Given the description of an element on the screen output the (x, y) to click on. 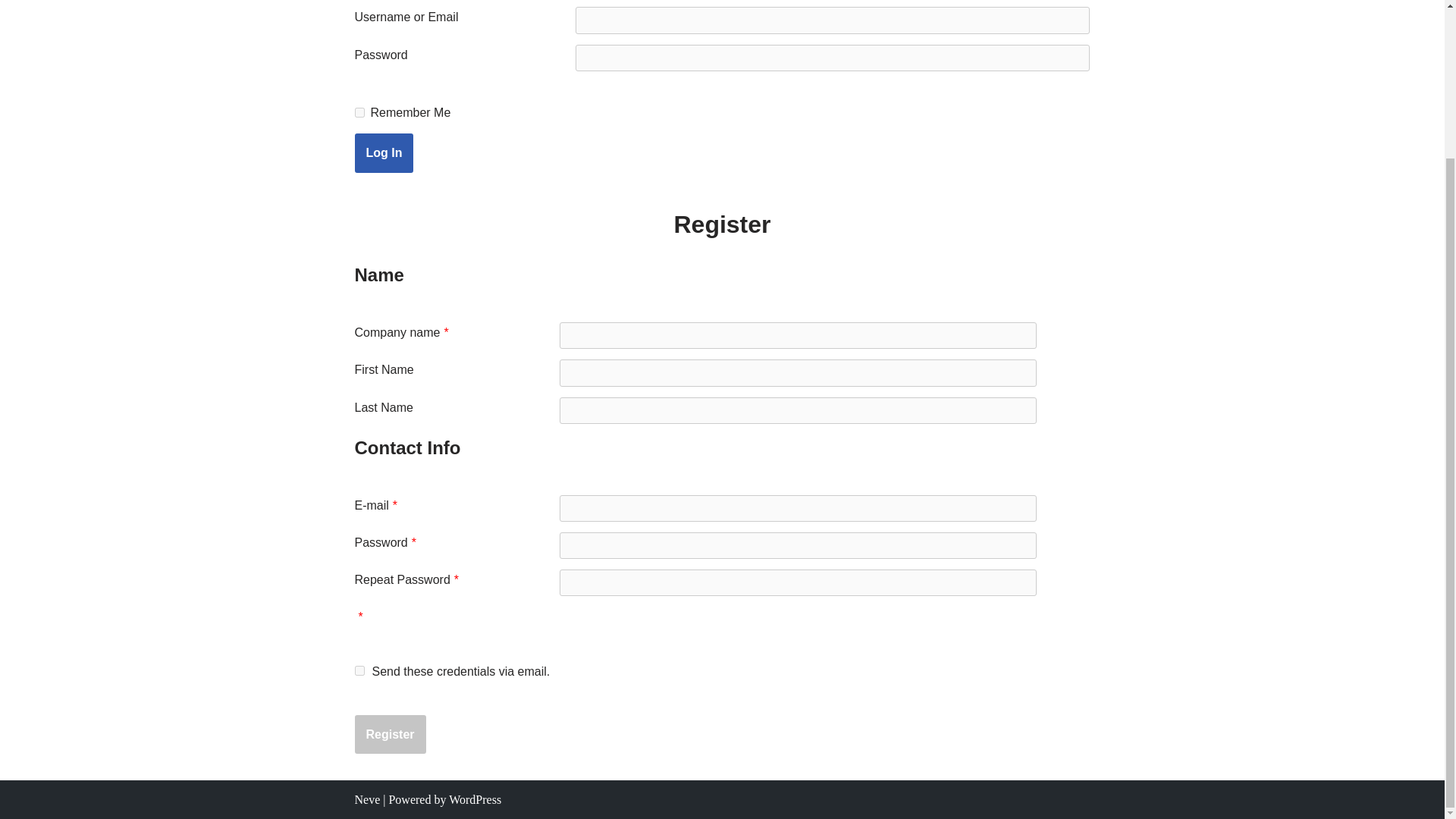
Register (390, 734)
Register (390, 734)
sending (360, 669)
Log In (384, 152)
forever (360, 112)
WordPress (474, 799)
Neve (367, 799)
Log In (384, 152)
